Given the description of an element on the screen output the (x, y) to click on. 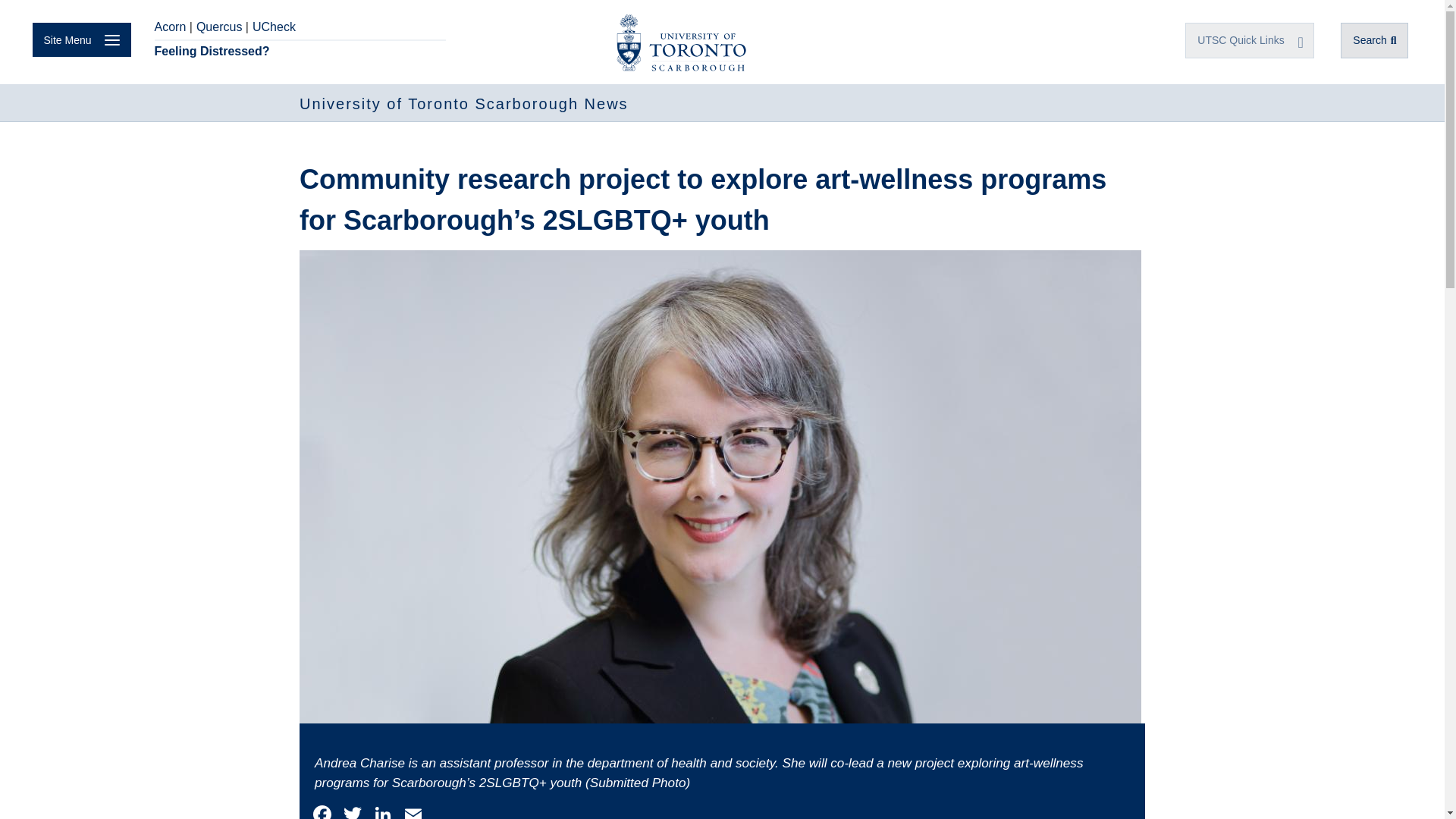
University of Toronto Scarborough (681, 39)
Feeling Distressed? (298, 51)
Search (1373, 40)
UTSC Quick Links (1249, 40)
Acorn (170, 26)
Quercus (218, 26)
Site Menu (81, 39)
UCheck (273, 26)
Home (463, 103)
